Given the description of an element on the screen output the (x, y) to click on. 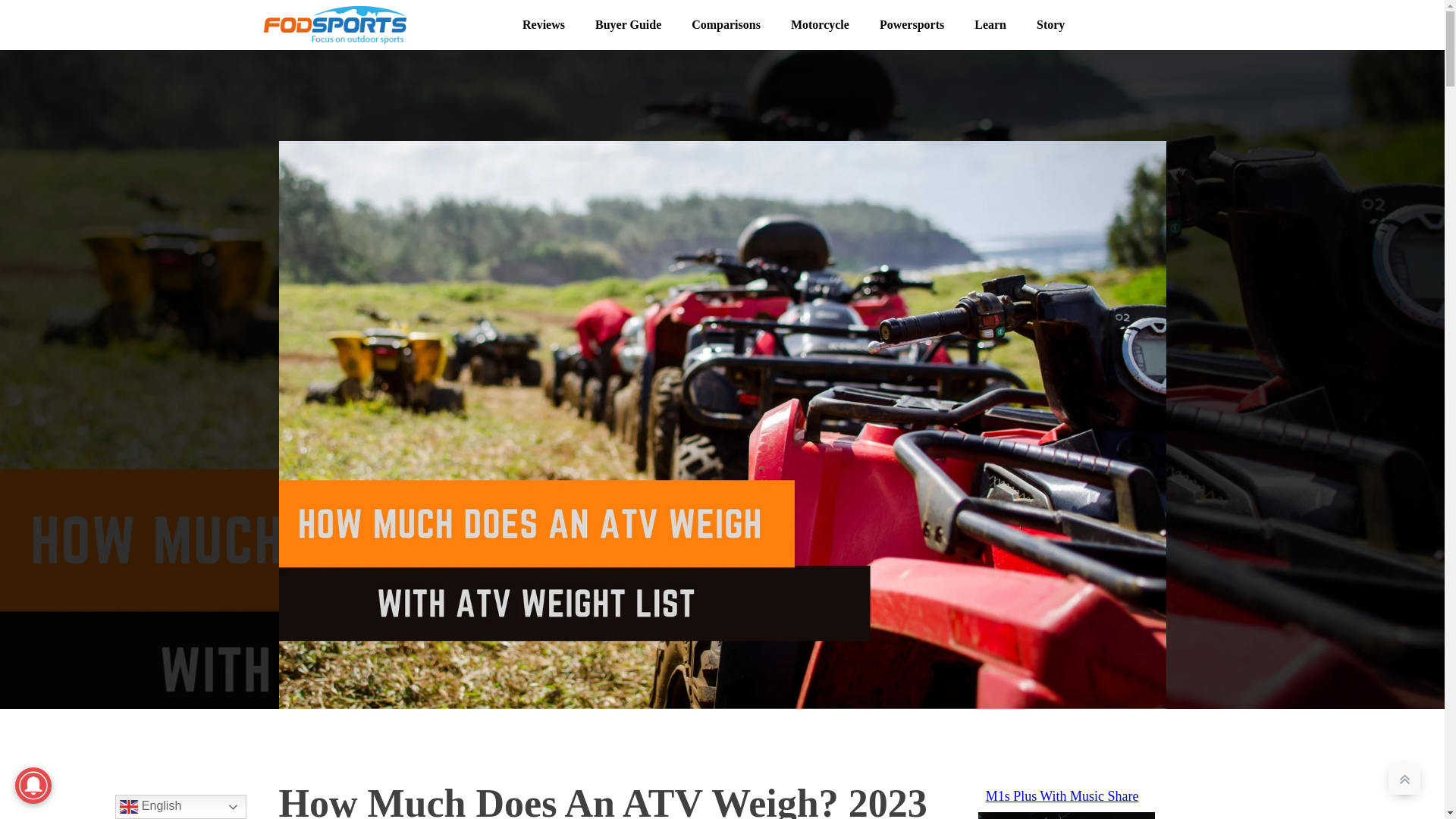
Powersports (911, 24)
Learn (990, 24)
Motorcycle (820, 24)
Comparisons (726, 24)
Reviews (542, 24)
Story (1051, 24)
Buyer Guide (628, 24)
